Given the description of an element on the screen output the (x, y) to click on. 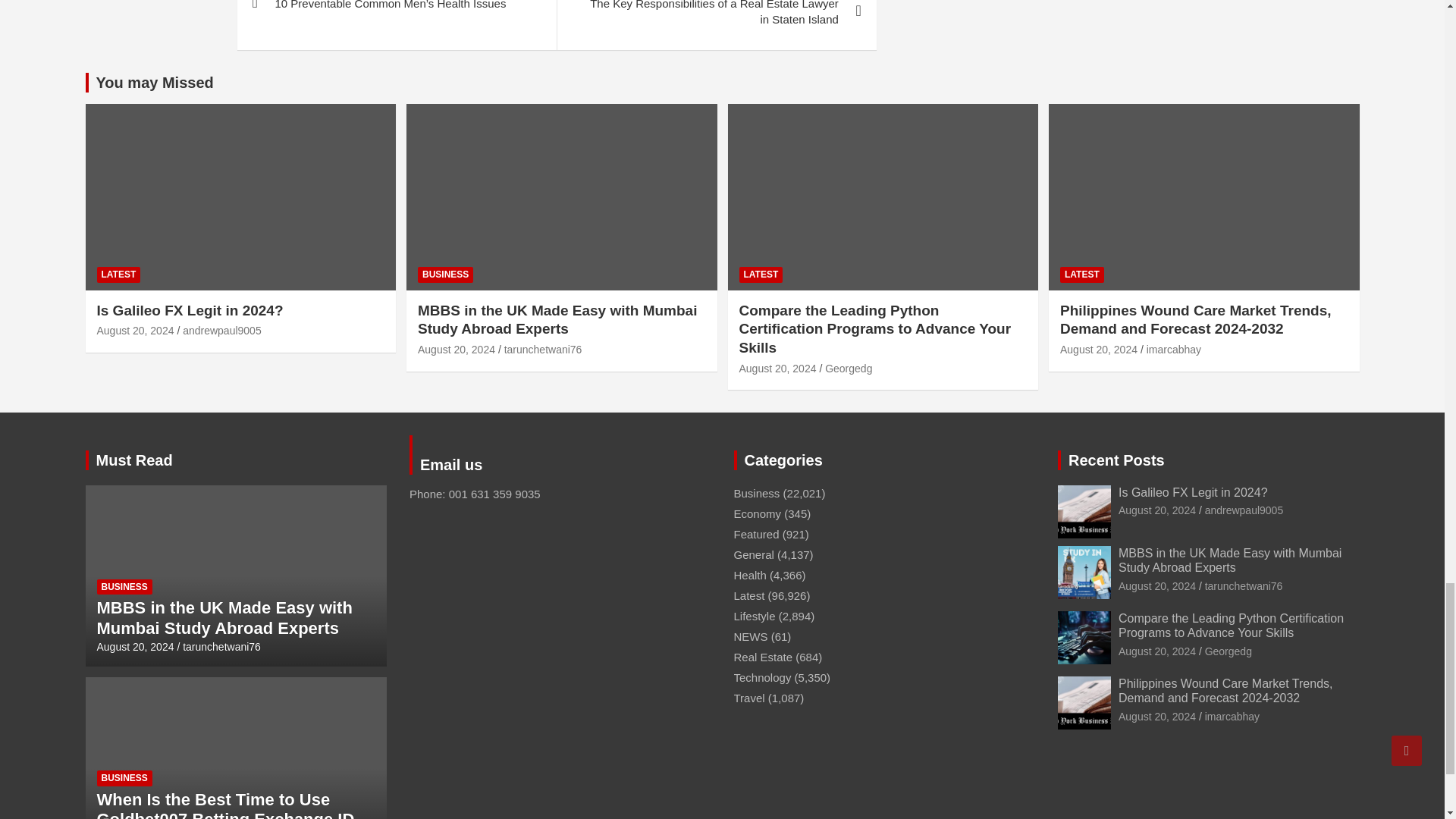
Is Galileo FX Legit in 2024? (1156, 510)
MBBS in the UK Made Easy with Mumbai Study Abroad Experts (1156, 585)
MBBS in the UK Made Easy with Mumbai Study Abroad Experts (135, 646)
MBBS in the UK Made Easy with Mumbai Study Abroad Experts (456, 349)
Is Galileo FX Legit in 2024? (135, 330)
